Given the description of an element on the screen output the (x, y) to click on. 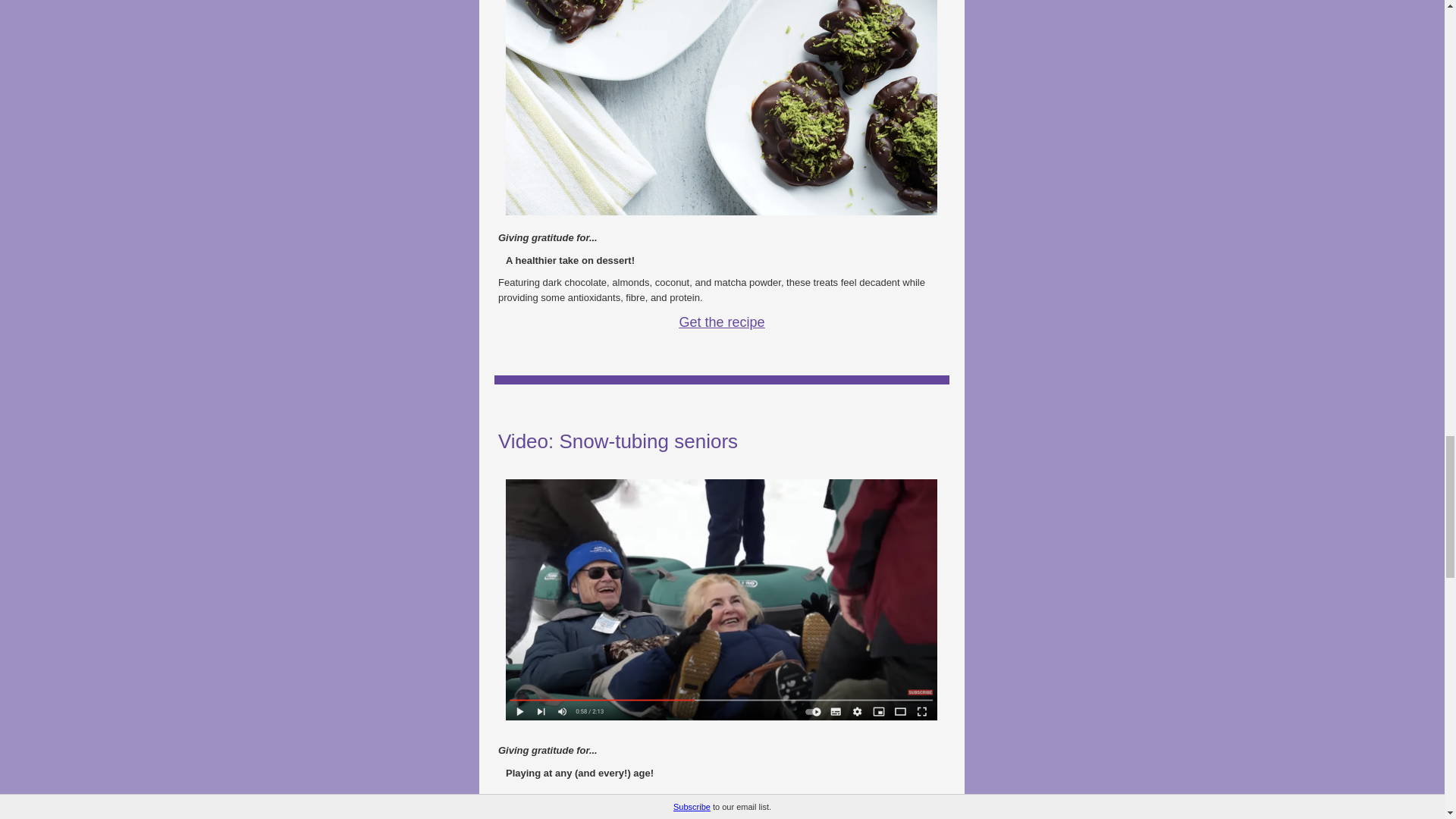
Get the recipe (721, 322)
